Given the description of an element on the screen output the (x, y) to click on. 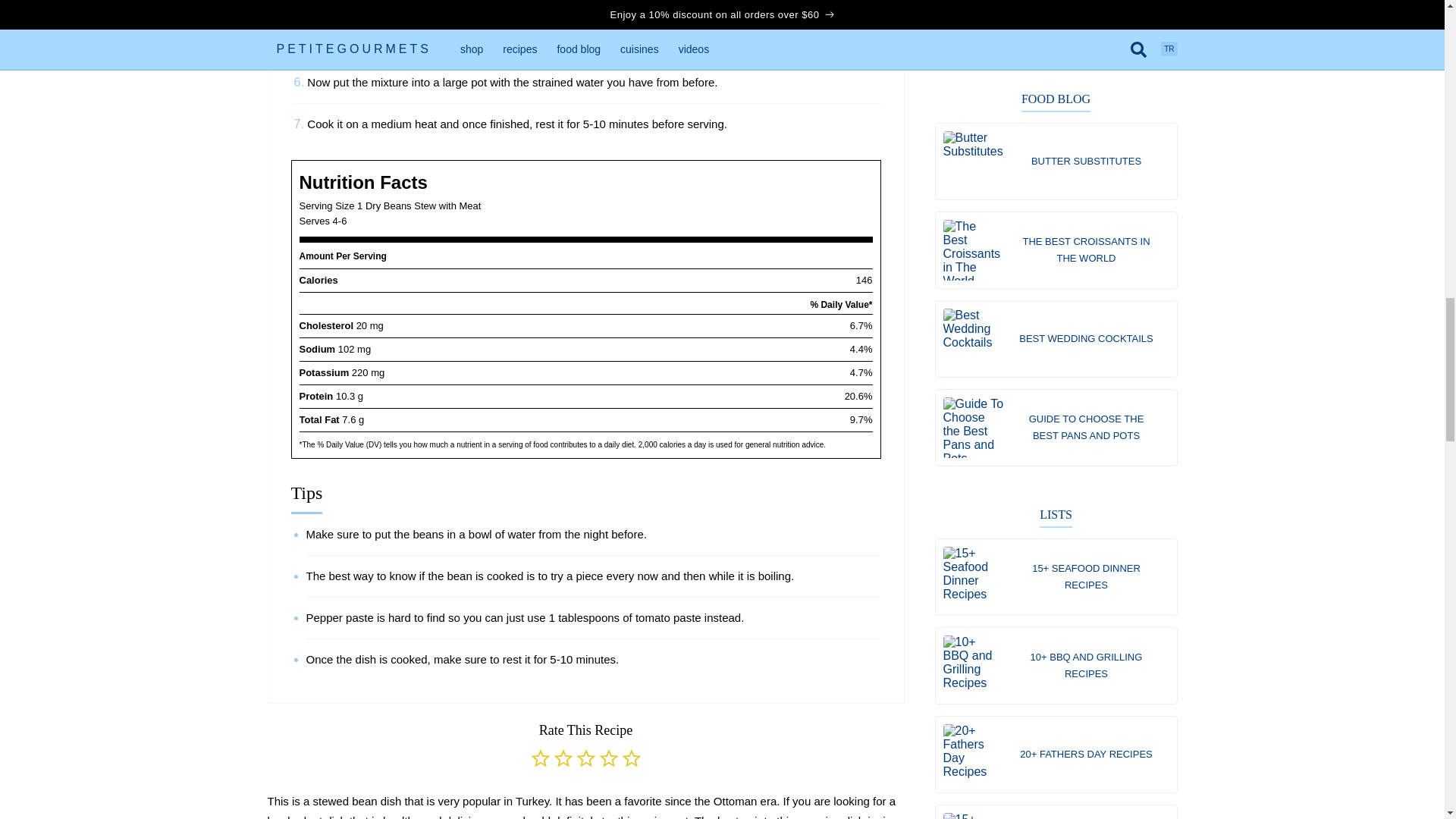
rice (887, 816)
